Given the description of an element on the screen output the (x, y) to click on. 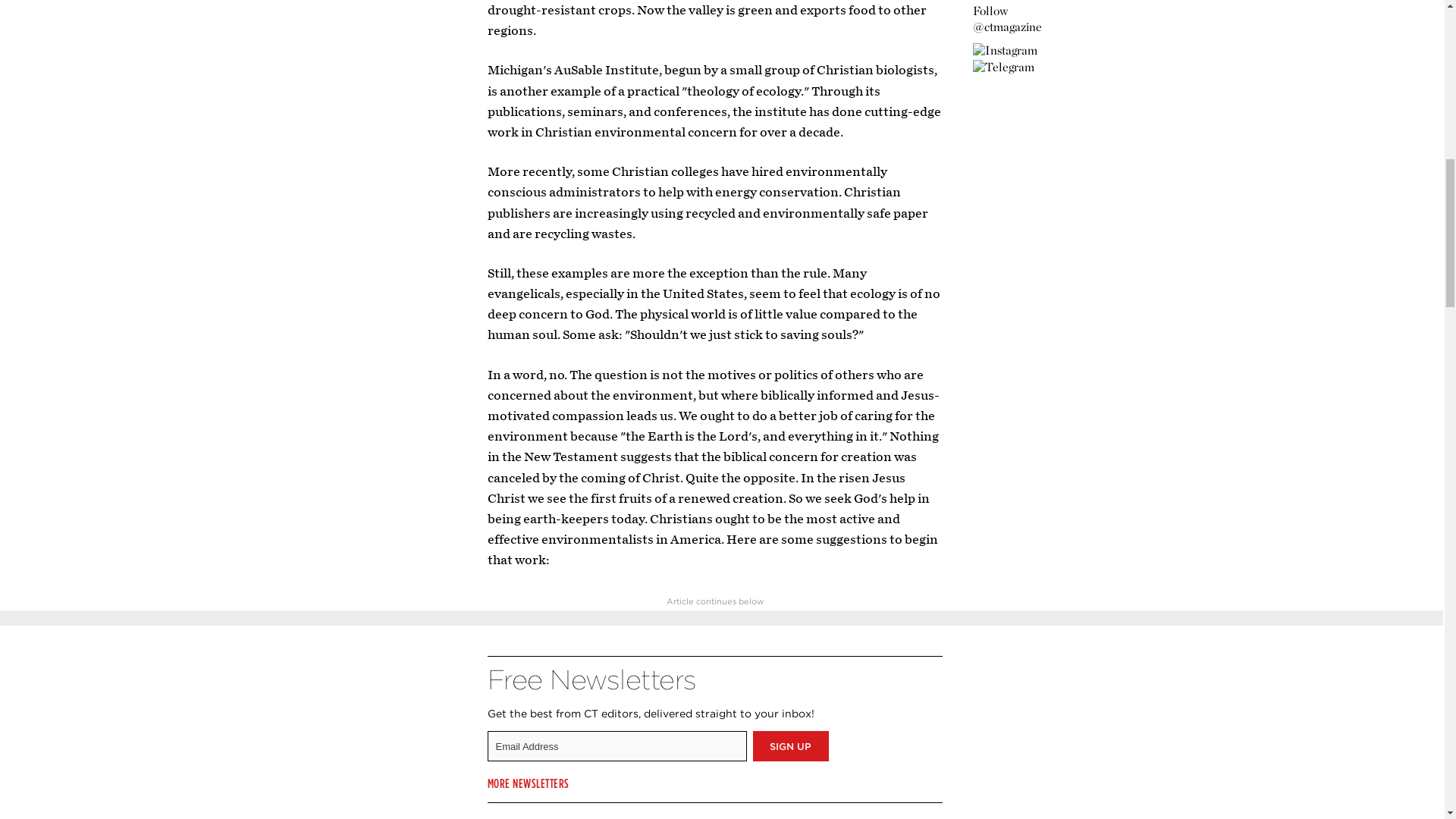
Email Address (615, 746)
Sign Up (790, 746)
